Given the description of an element on the screen output the (x, y) to click on. 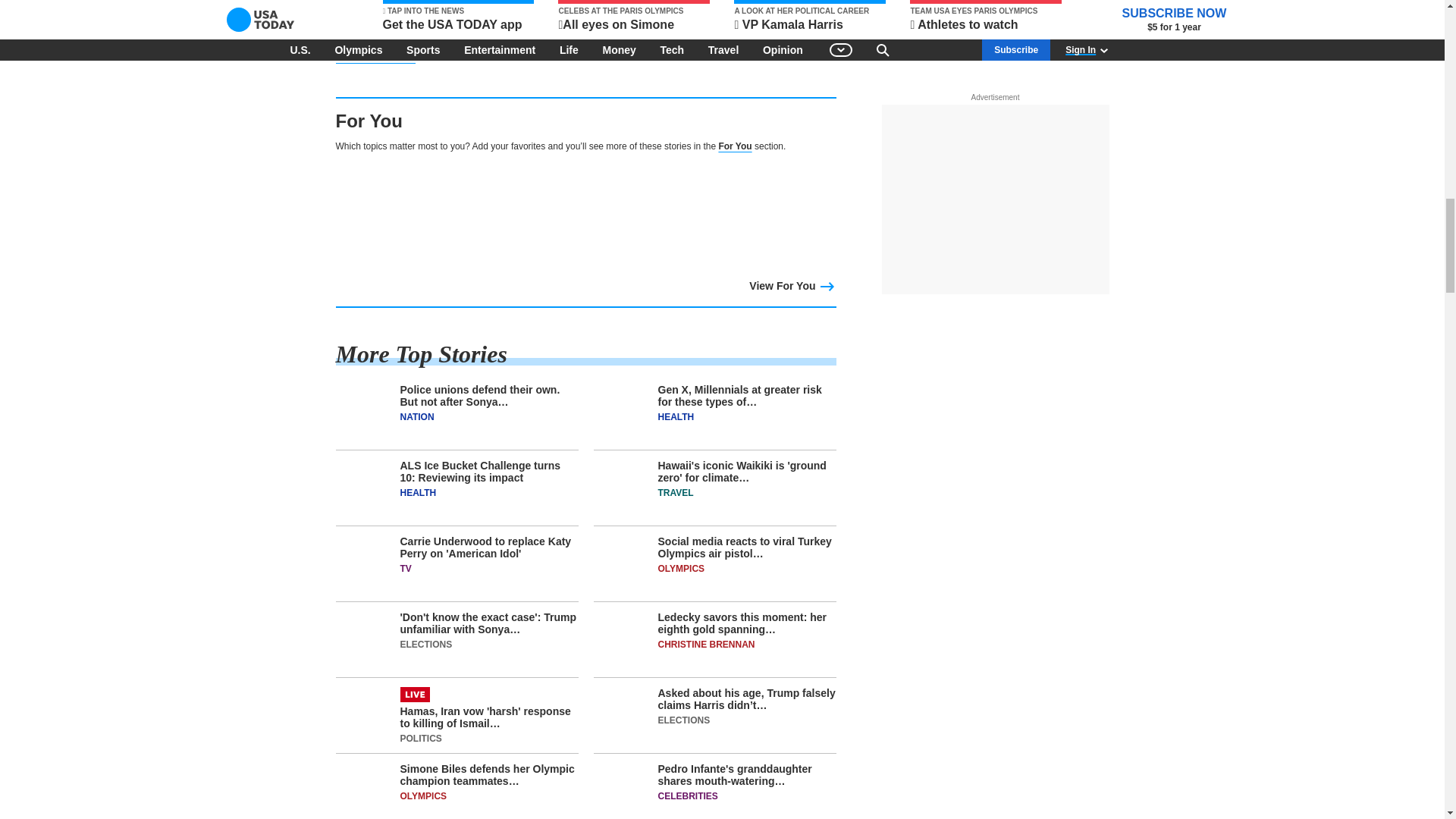
Gen X, Millennials at greater risk for these types of cancer (713, 417)
